Given the description of an element on the screen output the (x, y) to click on. 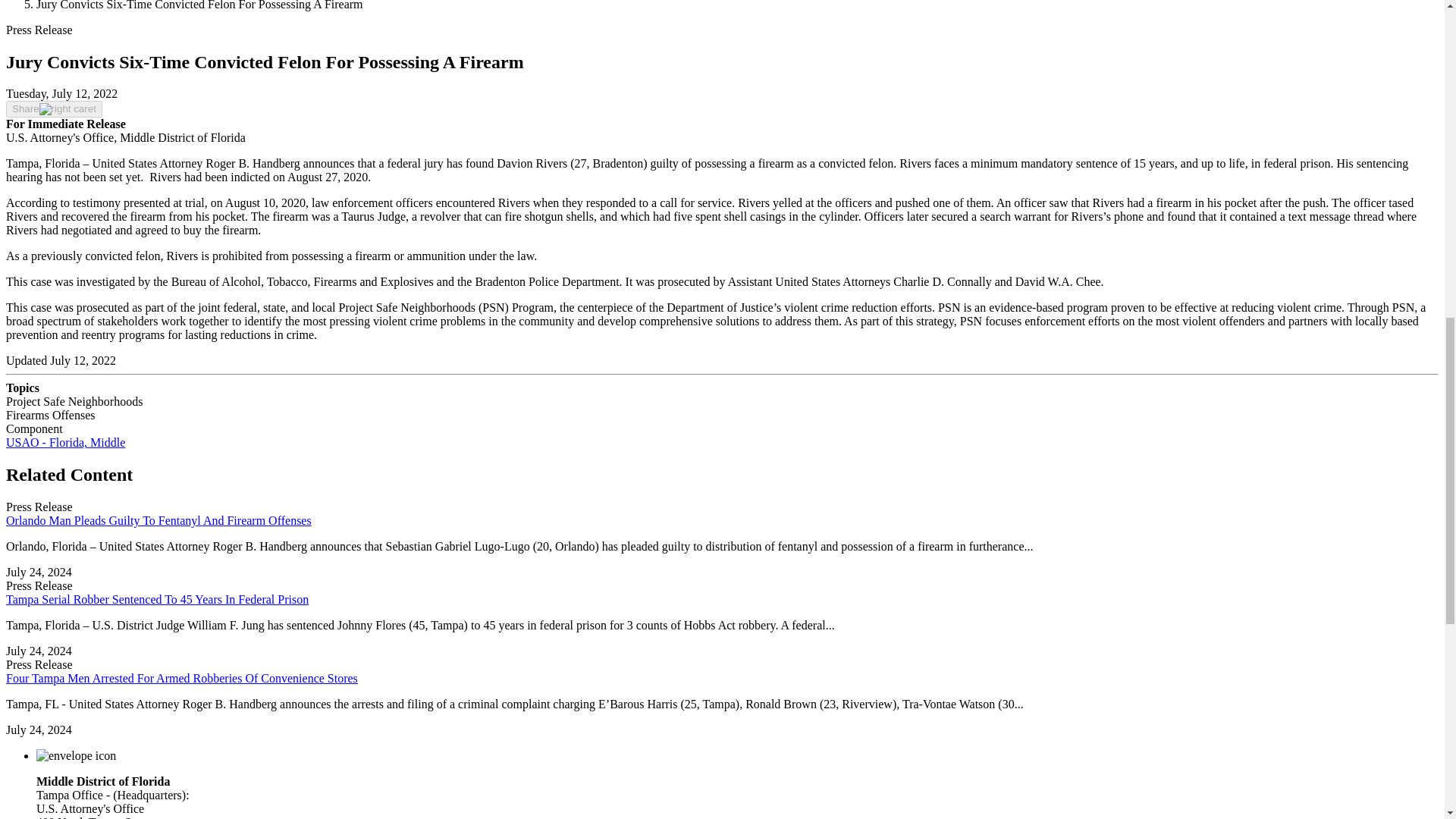
USAO - Florida, Middle (65, 441)
Share (53, 108)
